Given the description of an element on the screen output the (x, y) to click on. 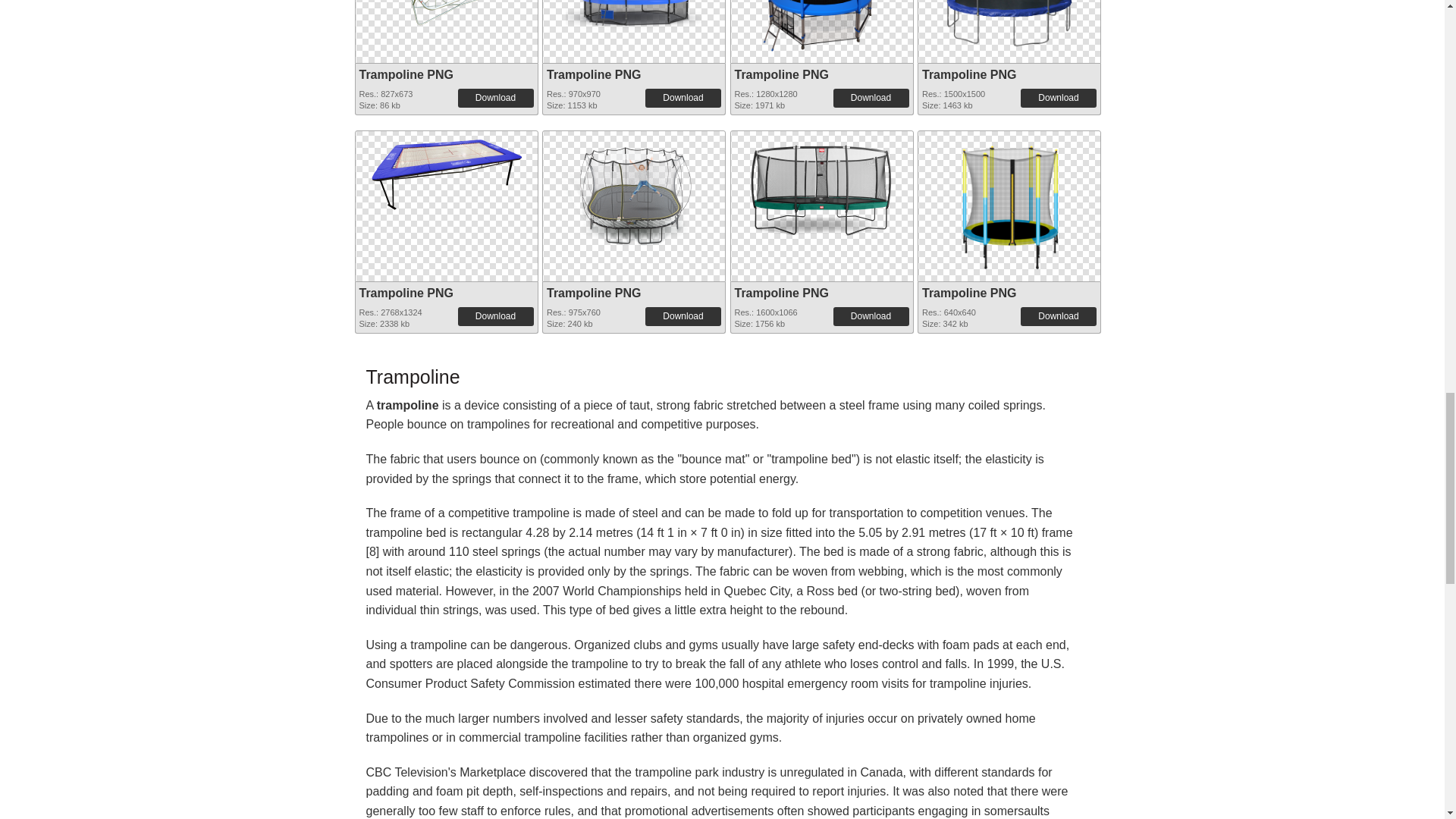
Trampoline PNG (821, 28)
Trampoline PNG (968, 74)
Download (496, 97)
Trampoline PNG (445, 21)
Trampoline PNG (405, 74)
Download (870, 97)
Trampoline PNG (780, 74)
Download (682, 97)
Trampoline PNG (593, 74)
Trampoline PNG (633, 28)
Download (1058, 97)
